Given the description of an element on the screen output the (x, y) to click on. 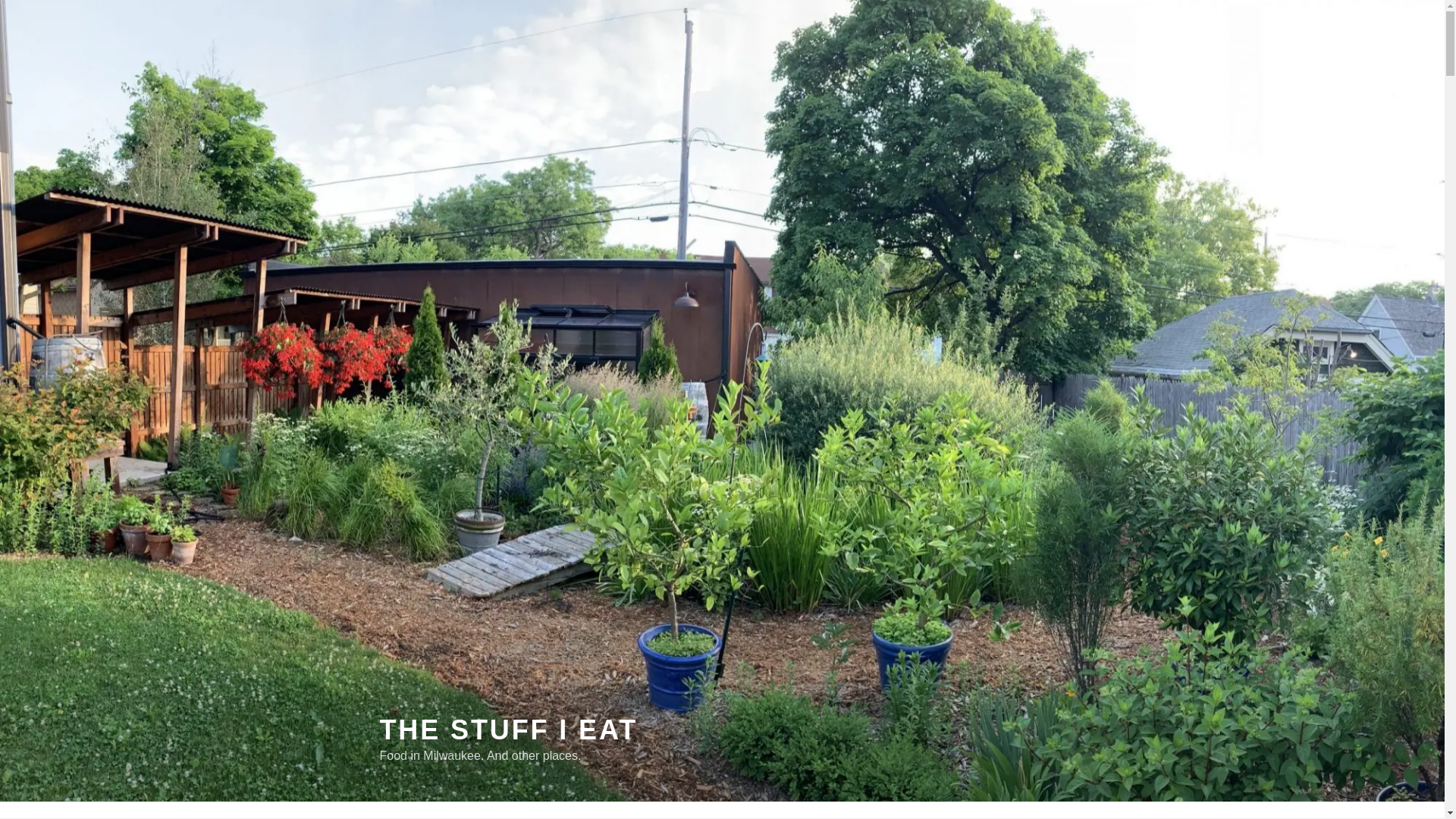
Scroll down to content (1082, 814)
Scroll down to content (1082, 814)
THE STUFF I EAT (507, 729)
